Given the description of an element on the screen output the (x, y) to click on. 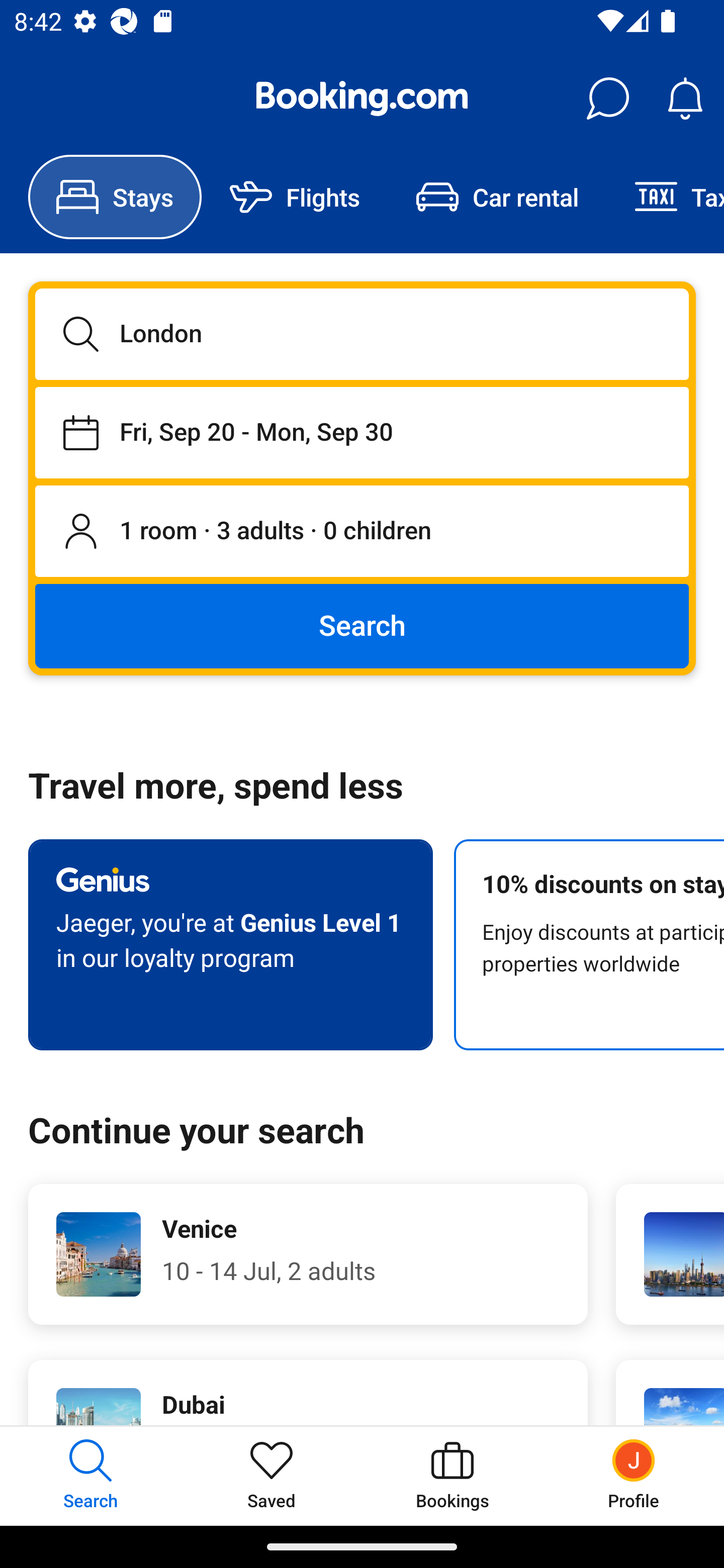
Messages (607, 98)
Notifications (685, 98)
Stays (114, 197)
Flights (294, 197)
Car rental (497, 197)
Taxi (665, 197)
London (361, 333)
Staying from Fri, Sep 20 until Mon, Sep 30 (361, 432)
1 room, 3 adults, 0 children (361, 531)
Search (361, 625)
Venice 10 - 14 Jul, 2 adults (307, 1253)
Saved (271, 1475)
Bookings (452, 1475)
Profile (633, 1475)
